Given the description of an element on the screen output the (x, y) to click on. 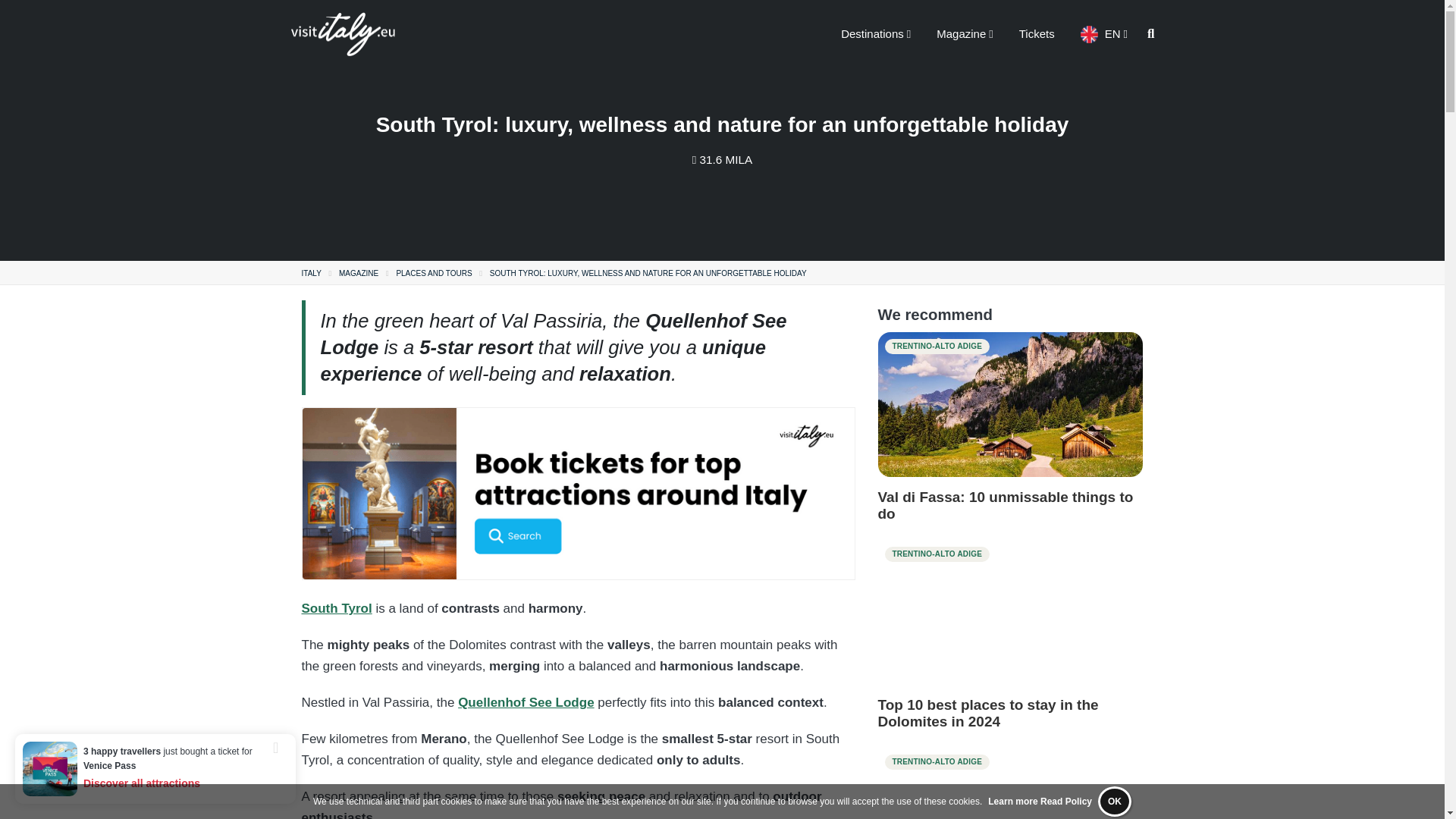
Val di Fassa: 10 amazing things to do (1009, 404)
Top 10 best places to stay in the Dolomites in 2024 (1009, 611)
Vipiteno (1009, 783)
Magazine (965, 33)
Magazine (358, 273)
Destinations (875, 33)
